Given the description of an element on the screen output the (x, y) to click on. 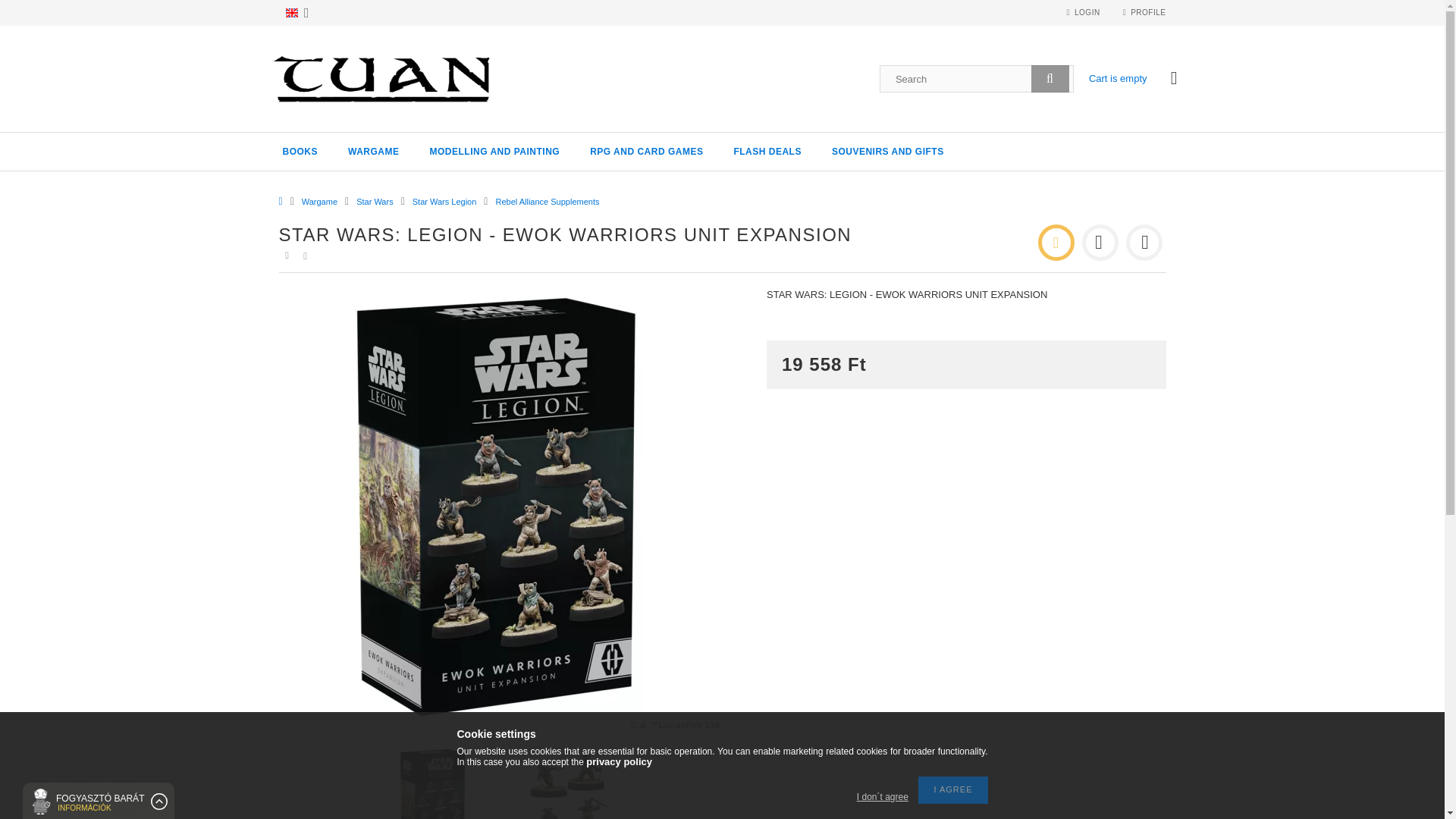
STAR WARS: LEGION - EWOK WARRIORS UNIT EXPANSION (433, 782)
Previous product (1099, 242)
LOGIN (1082, 12)
I Agree (952, 789)
Search (1049, 78)
Enter a longer search term! (976, 78)
English (291, 12)
Next product (1143, 242)
STAR WARS: LEGION - EWOK WARRIORS UNIT EXPANSION (567, 782)
